Given the description of an element on the screen output the (x, y) to click on. 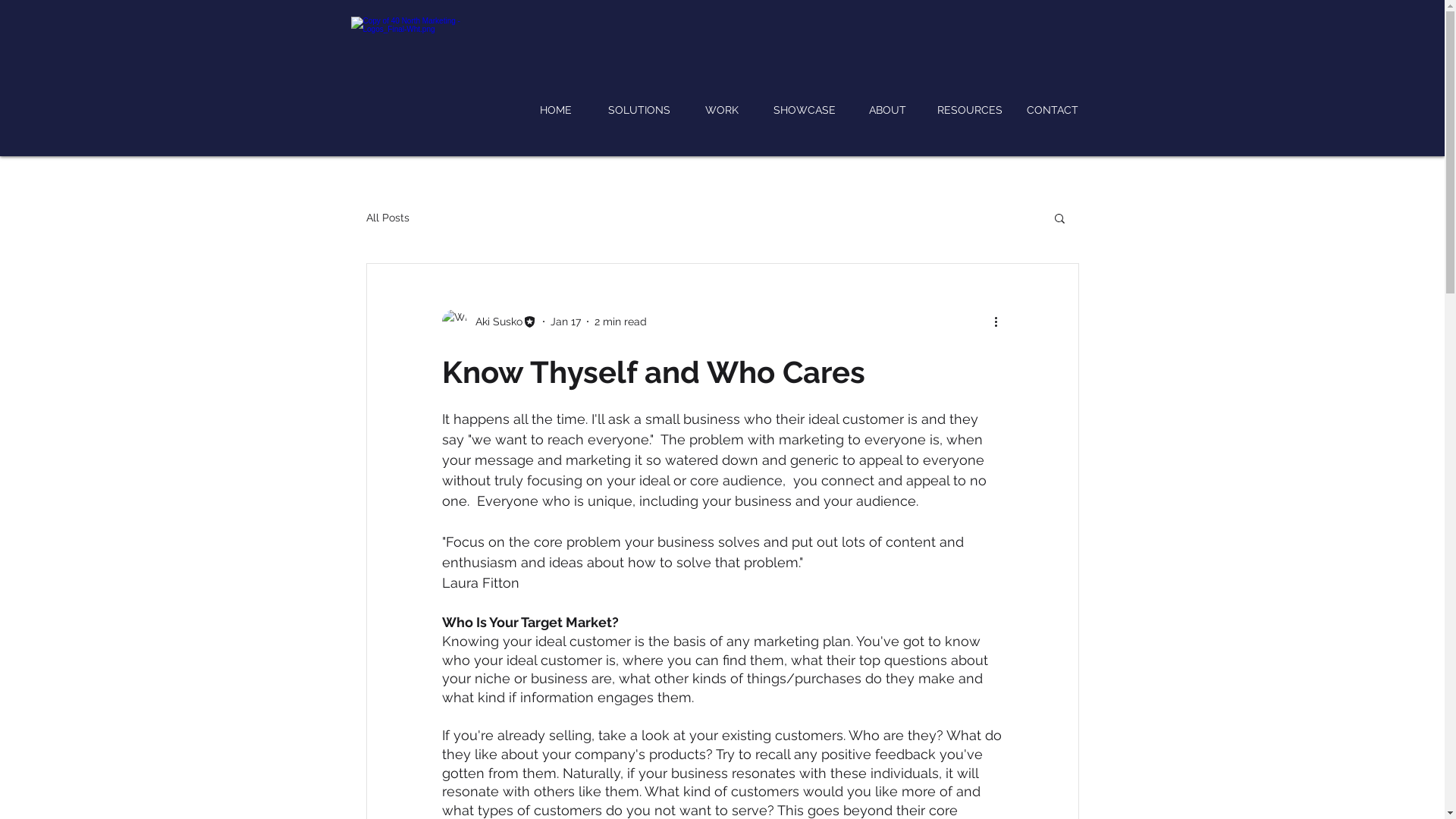
Aki Susko Element type: text (488, 321)
CONTACT Element type: text (1052, 109)
HOME Element type: text (555, 109)
WORK Element type: text (721, 109)
All Posts Element type: text (386, 217)
RESOURCES Element type: text (969, 109)
SHOWCASE Element type: text (803, 109)
SOLUTIONS Element type: text (638, 109)
ABOUT Element type: text (887, 109)
